Given the description of an element on the screen output the (x, y) to click on. 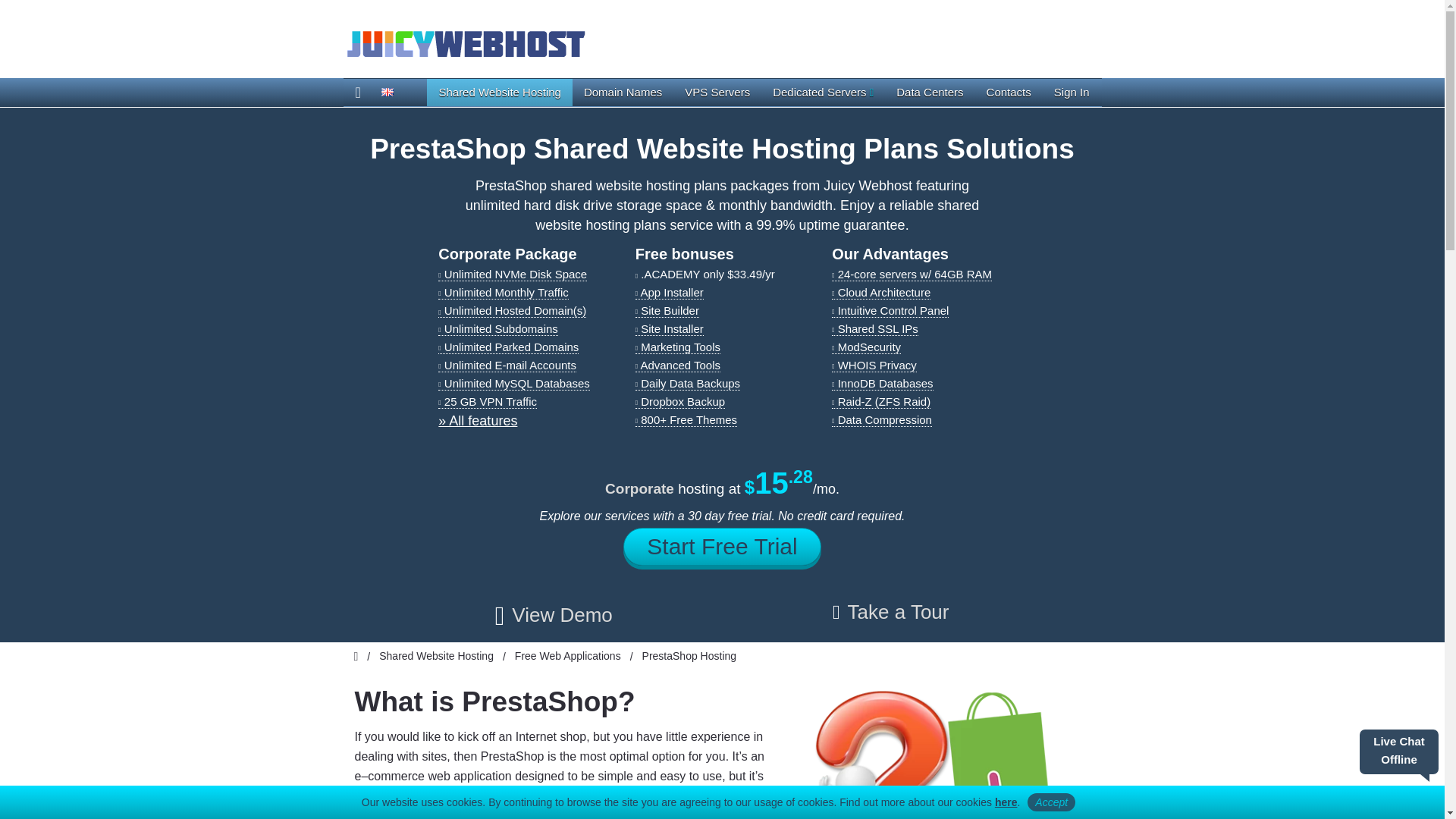
Corporate Plan Details (477, 420)
Juicy Webhost (464, 42)
Domain Names (622, 92)
Shared Website Hosting (499, 92)
